Given the description of an element on the screen output the (x, y) to click on. 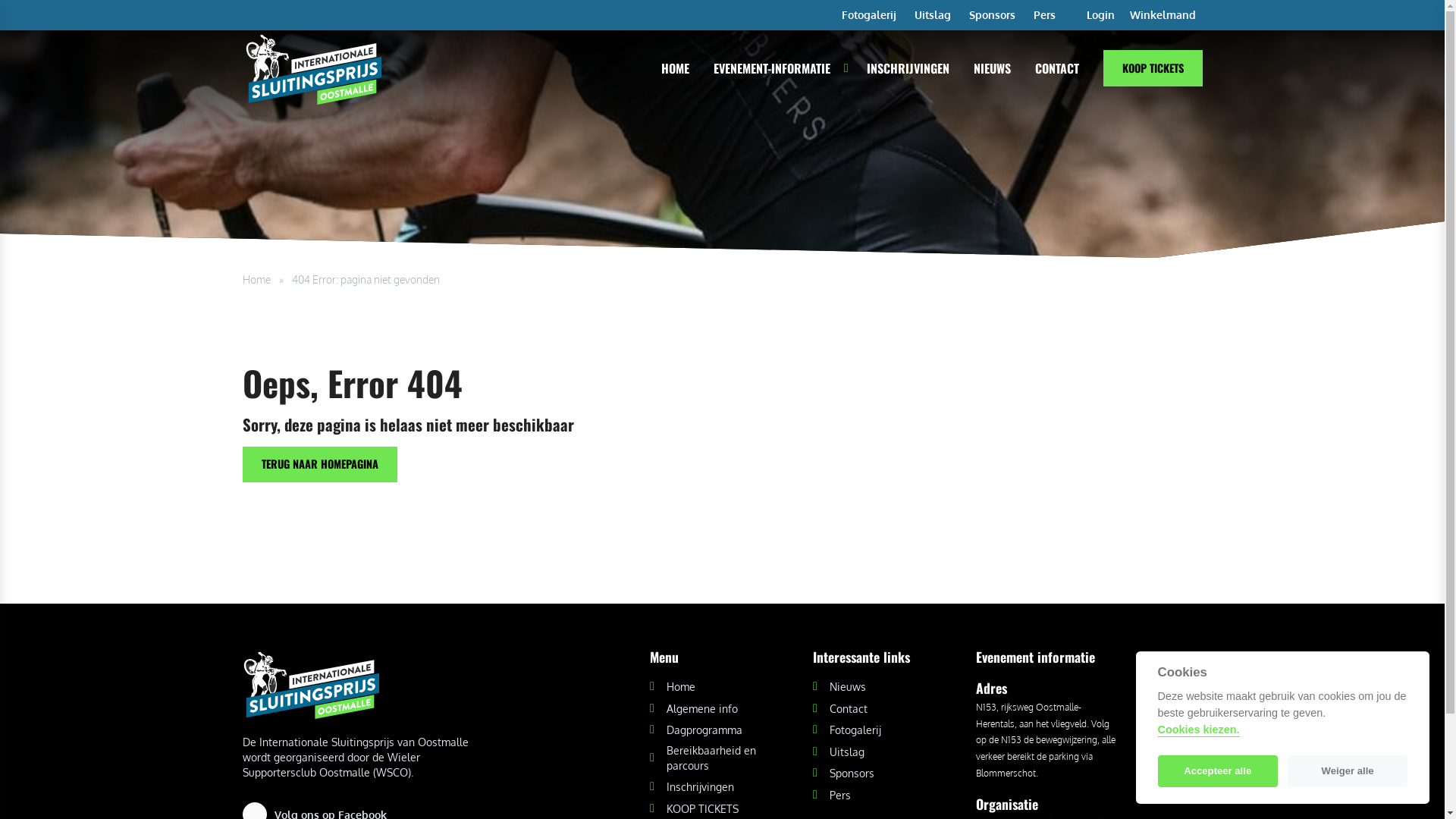
Pers Element type: text (1043, 14)
Nieuws Element type: text (839, 685)
Sponsors Element type: text (843, 772)
Home Element type: text (672, 685)
Fotogalerij Element type: text (868, 14)
Accepteer alle Element type: text (1217, 771)
Bereikbaarheid en parcours Element type: text (721, 757)
Uitslag Element type: text (838, 751)
KOOP TICKETS Element type: text (1151, 67)
Sponsors Element type: text (991, 14)
Dagprogramma Element type: text (695, 729)
Pers Element type: text (831, 794)
Home Element type: text (256, 279)
TERUG NAAR HOMEPAGINA Element type: text (319, 464)
Winkelmand Element type: text (1164, 15)
Uitslag Element type: text (932, 14)
EVENEMENT-INFORMATIE Element type: text (770, 68)
HOME Element type: text (675, 68)
Algemene info Element type: text (693, 707)
Fotogalerij Element type: text (846, 729)
Inschrijvingen Element type: text (691, 785)
Contact Element type: text (839, 707)
INSCHRIJVINGEN Element type: text (906, 68)
CONTACT Element type: text (1056, 68)
Search Element type: text (895, 422)
Weiger alle Element type: text (1347, 771)
Cookies kiezen. Element type: text (1198, 730)
Login Element type: text (1103, 15)
NIEUWS Element type: text (991, 68)
KOOP TICKETS Element type: text (693, 807)
Logo - Wielersupportersclub Oostmalle Element type: hover (355, 683)
